Given the description of an element on the screen output the (x, y) to click on. 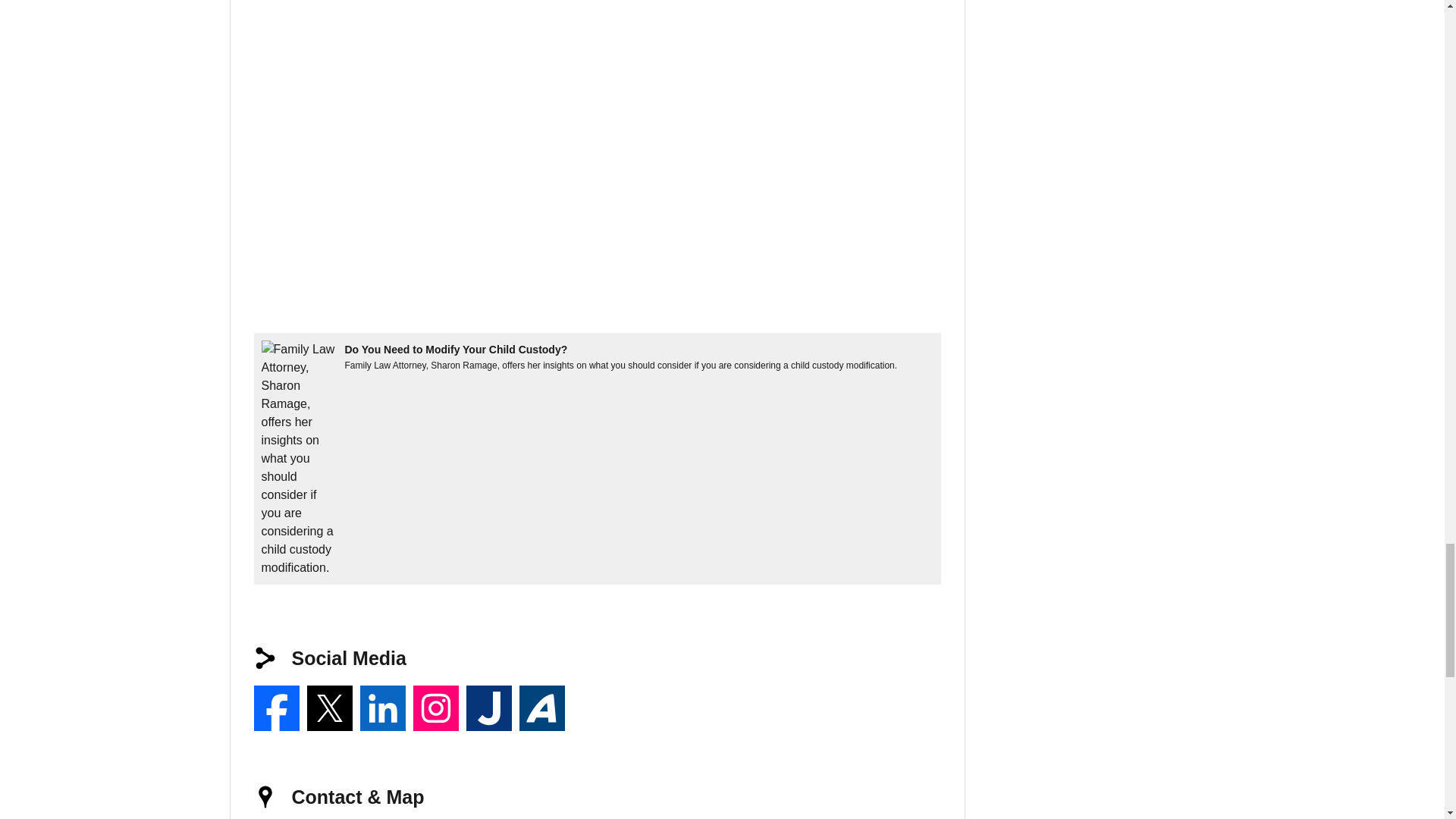
X (328, 708)
Sharon M. Ramage on LinkedIn (381, 708)
 Justia Profile (488, 708)
Sharon M. Ramage on Instagram (435, 708)
Sharon M. Ramage on Facebook (275, 708)
Facebook (275, 708)
Instagram (435, 708)
Justia Profile (488, 708)
Sharon M. Ramage's Avvo Profile (541, 708)
Sharon M. Ramage's Avvo Profile (541, 708)
LinkedIn (381, 708)
